Given the description of an element on the screen output the (x, y) to click on. 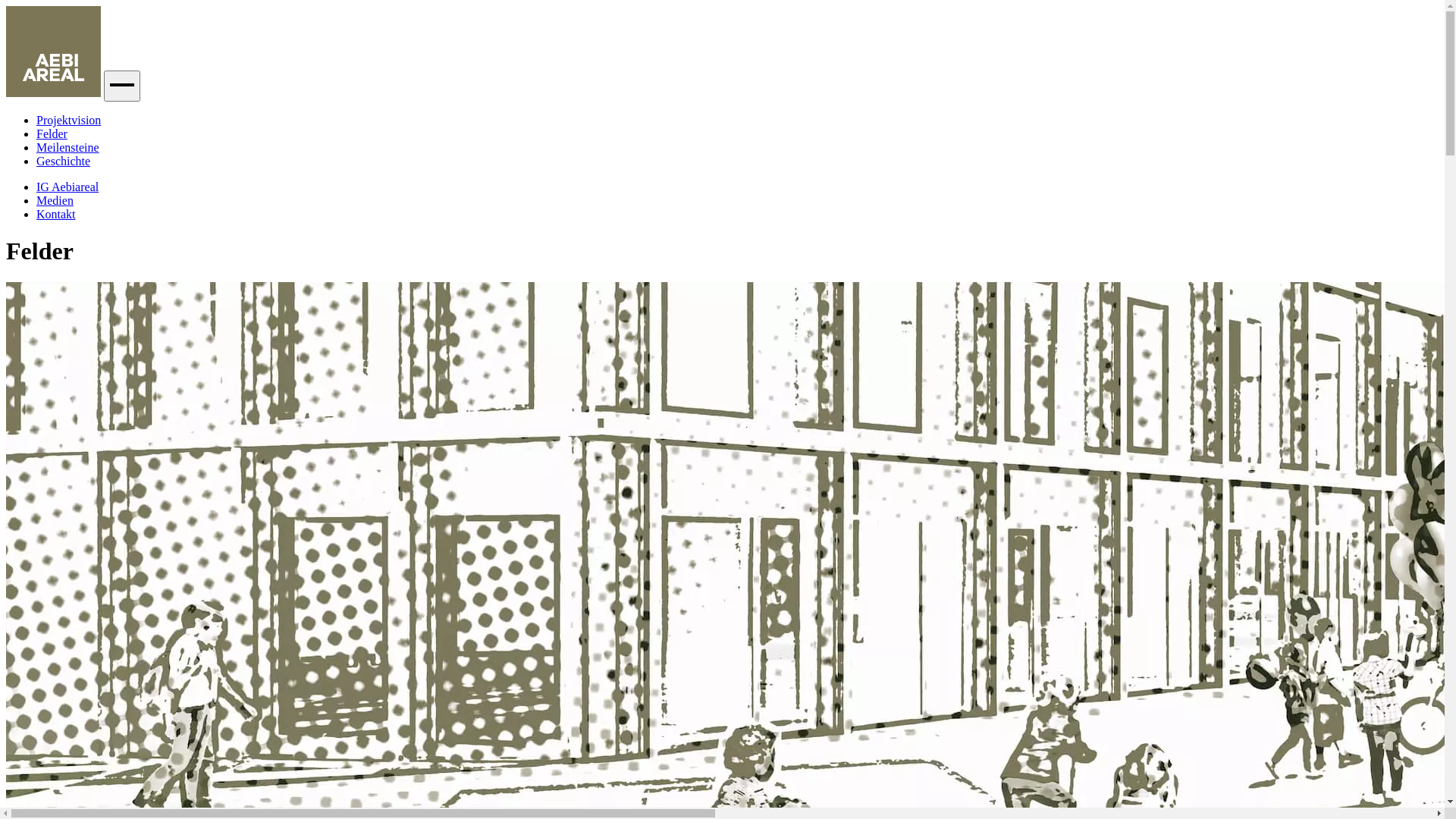
Medien Element type: text (54, 200)
Felder Element type: text (51, 133)
Meilensteine Element type: text (67, 147)
Projektvision Element type: text (68, 119)
IG Aebiareal Element type: text (67, 186)
Geschichte Element type: text (63, 160)
Kontakt Element type: text (55, 213)
